Given the description of an element on the screen output the (x, y) to click on. 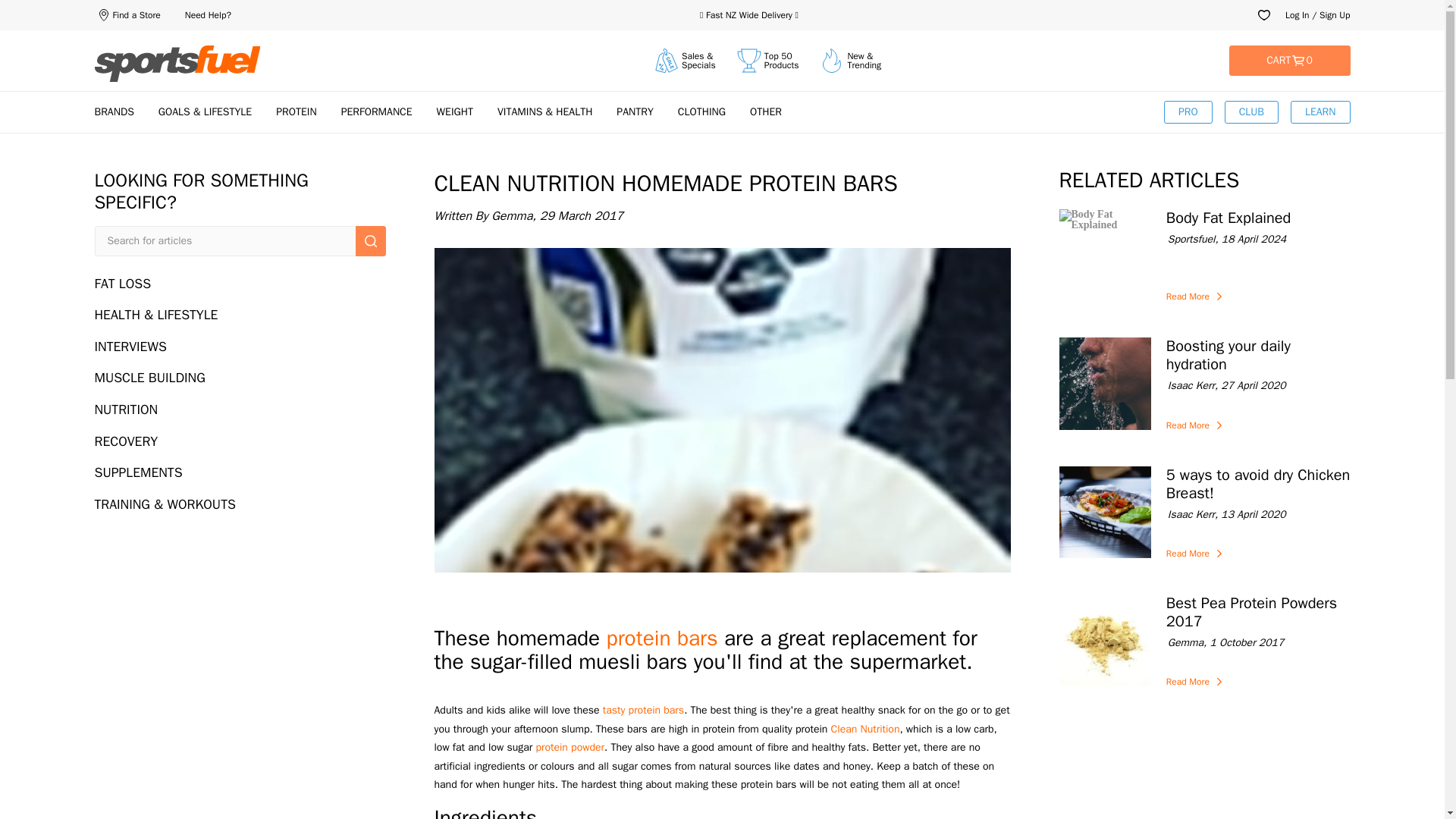
RECOVERY (239, 441)
Isaac Kerr, 27 April 2020 (1258, 386)
Gemma, 29 March 2017 (721, 216)
WEIGHT (454, 111)
NUTRITION (239, 409)
5 ways to avoid dry Chicken Breast! (1258, 484)
Home (177, 63)
Body Fat Explained (1258, 218)
Need Help? (208, 14)
PANTRY (634, 111)
